Given the description of an element on the screen output the (x, y) to click on. 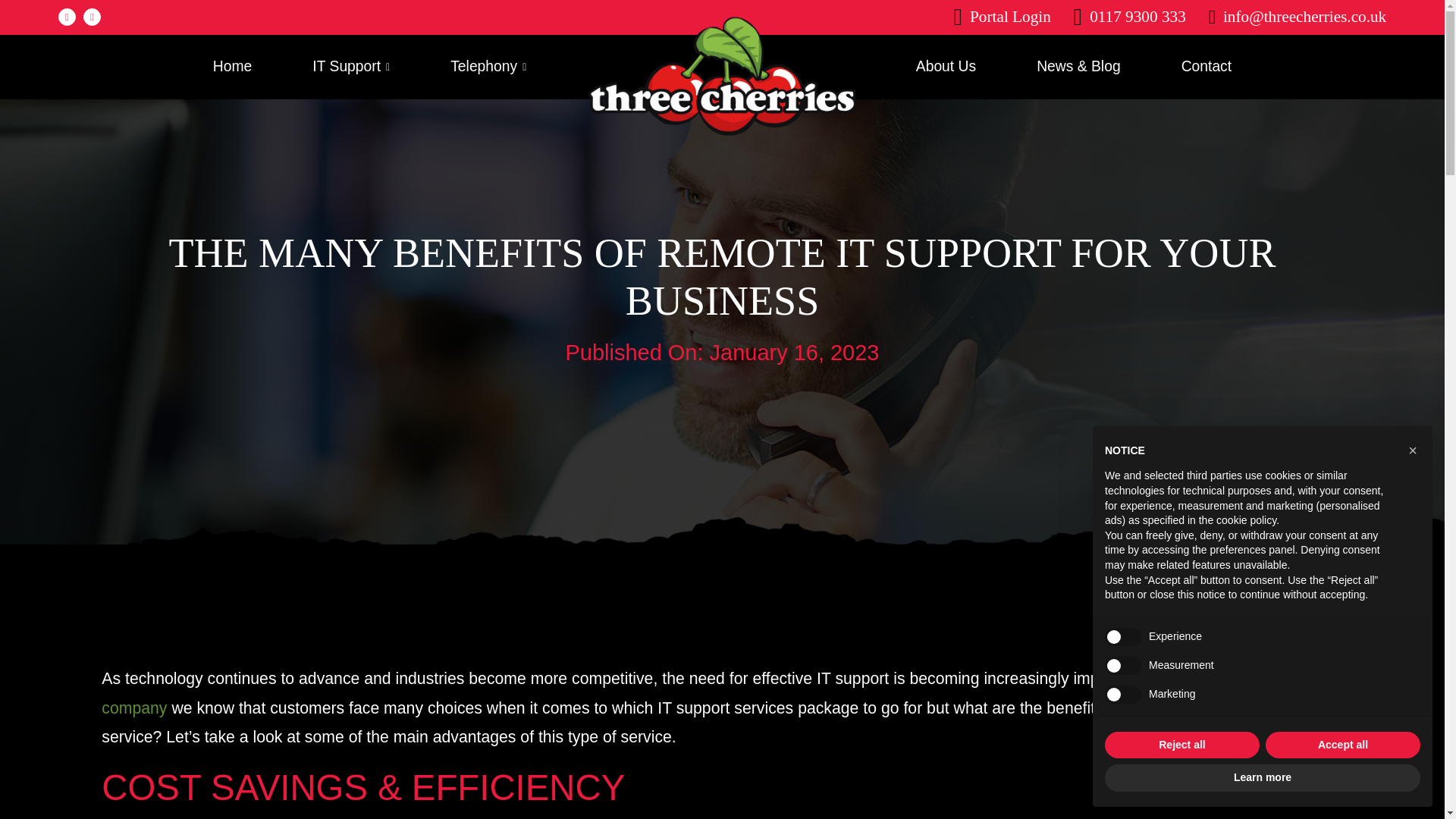
IT Support (351, 66)
LinkedIn (91, 16)
false (1123, 694)
false (1123, 637)
false (1123, 665)
Portal Login (1002, 16)
Facebook (66, 16)
LinkedIn (91, 16)
Facebook (66, 16)
About Us (945, 66)
0117 9300 333 (1130, 16)
Telephony (487, 66)
